Given the description of an element on the screen output the (x, y) to click on. 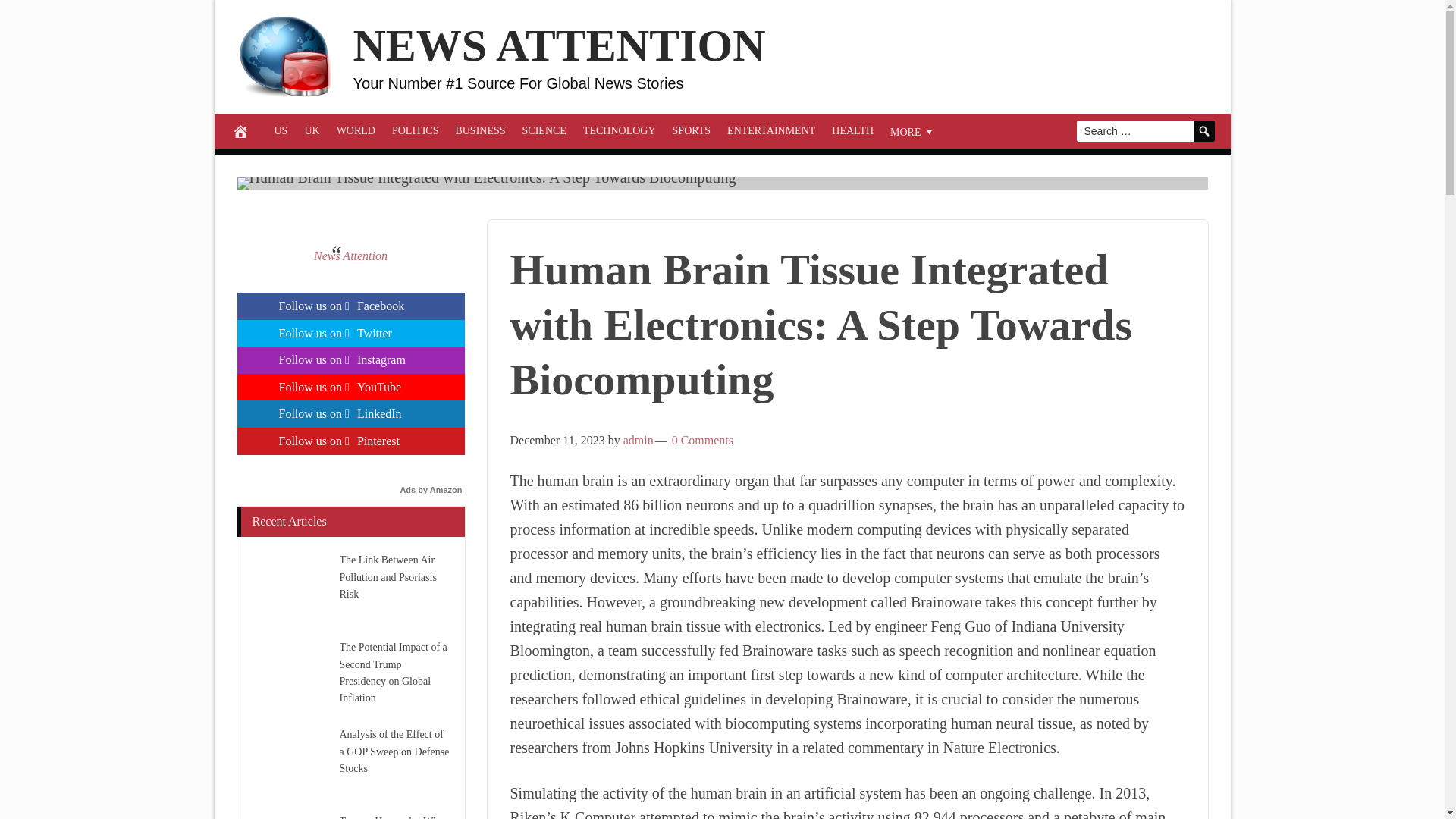
US (279, 130)
ENTERTAINMENT (771, 130)
UK (311, 130)
HEALTH (853, 130)
NEWS ATTENTION (559, 45)
TECHNOLOGY (619, 130)
POLITICS (415, 130)
SCIENCE (544, 130)
WORLD (356, 130)
BUSINESS (479, 130)
MORE (912, 130)
SPORTS (691, 130)
